Given the description of an element on the screen output the (x, y) to click on. 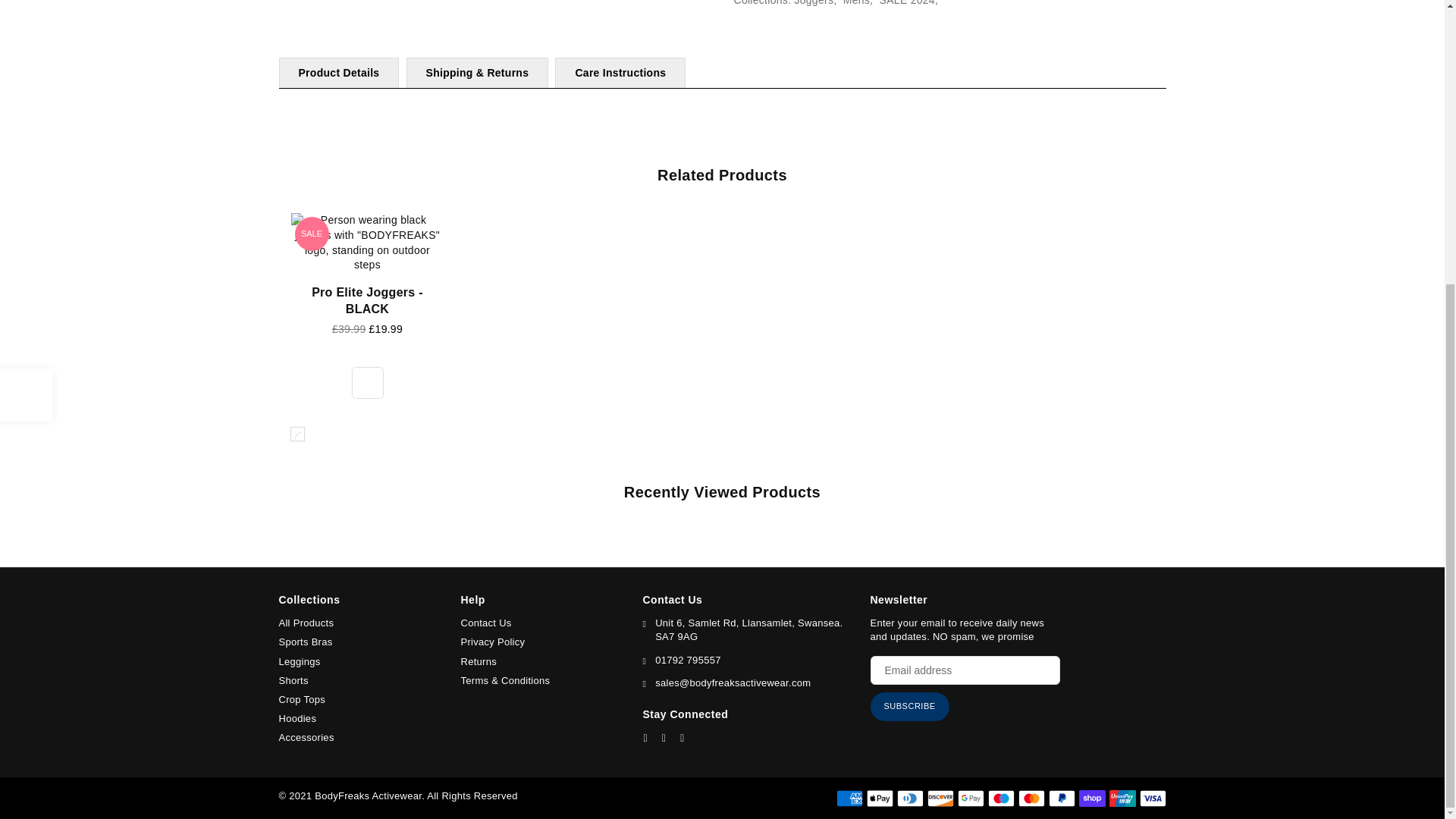
Apple Pay (879, 798)
Diners Club (909, 798)
Maestro (1000, 798)
Visa (1152, 798)
American Express (848, 798)
Shop Pay (1091, 798)
Discover (939, 798)
Mastercard (1030, 798)
Union Pay (1121, 798)
Google Pay (970, 798)
PayPal (1061, 798)
